Given the description of an element on the screen output the (x, y) to click on. 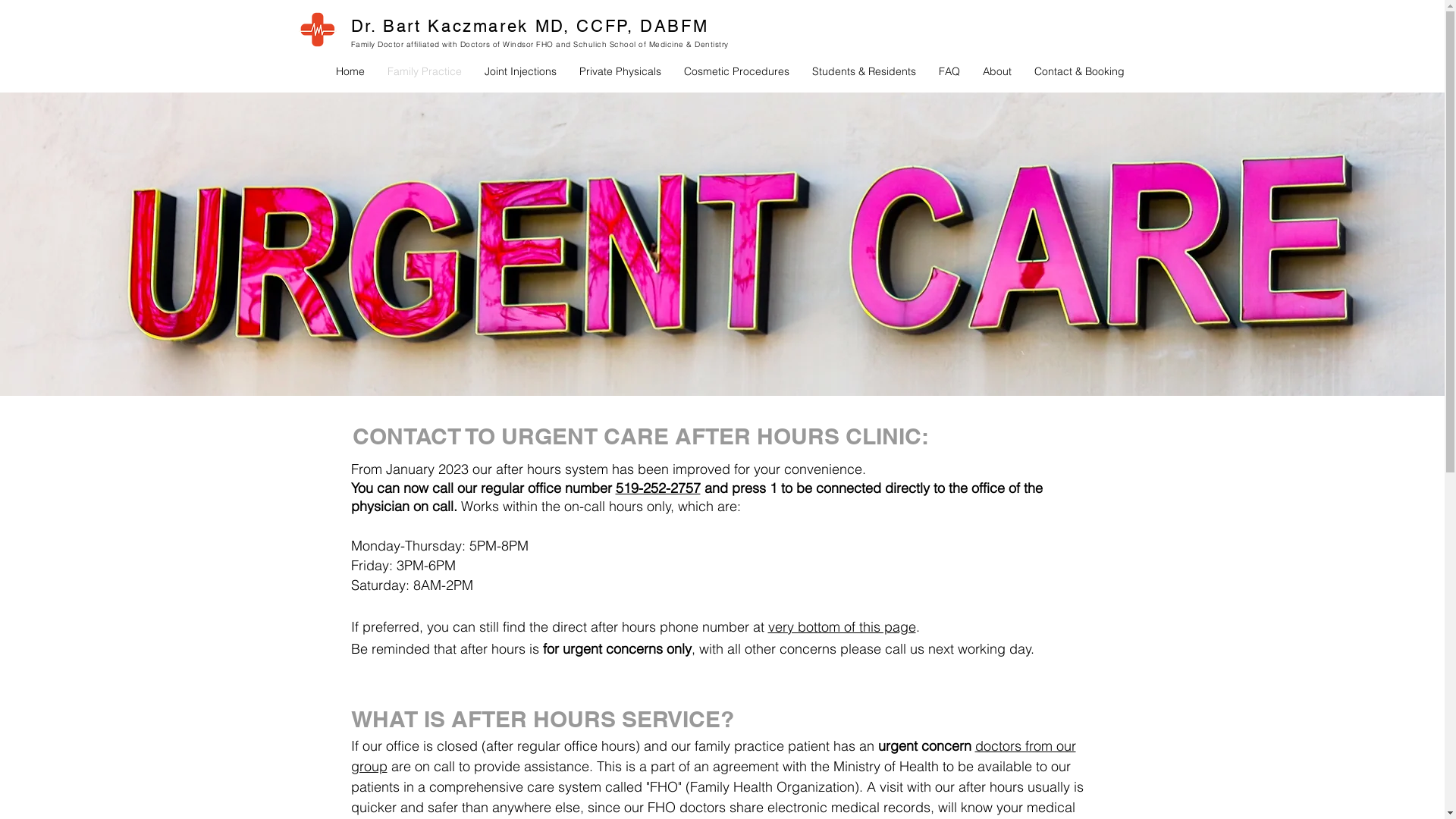
Home Element type: text (350, 70)
doctors from our group Element type: text (712, 756)
very bottom of this page Element type: text (841, 626)
Dr. Bart Kaczmarek MD, CCFP, DABFM Element type: text (529, 25)
FAQ Element type: text (948, 70)
Joint Injections Element type: text (520, 70)
Schulich School of Medicine & Dentistry Element type: text (650, 44)
Contact & Booking Element type: text (1078, 70)
Family Practice Element type: text (424, 70)
Doctors of Windsor FHO Element type: text (505, 44)
519-252-2757 Element type: text (657, 487)
Cosmetic Procedures Element type: text (735, 70)
About Element type: text (996, 70)
Private Physicals Element type: text (619, 70)
Students & Residents Element type: text (863, 70)
